Given the description of an element on the screen output the (x, y) to click on. 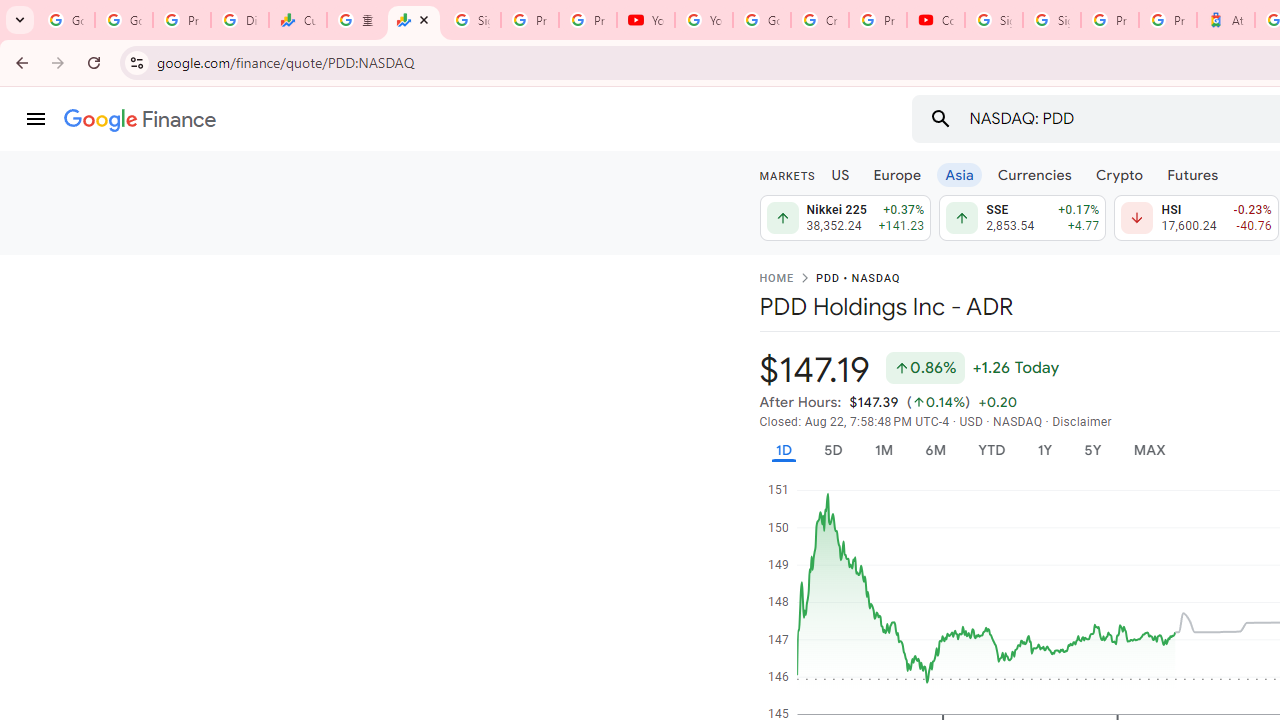
Google Workspace Admin Community (65, 20)
5Y (1092, 449)
Create your Google Account (819, 20)
Content Creator Programs & Opportunities - YouTube Creators (936, 20)
Currencies (1034, 174)
PDD Holdings Inc - ADR (PDD) Price & News - Google Finance (413, 20)
MAX (1149, 449)
1D (783, 449)
1M (882, 449)
Google Account Help (762, 20)
Asia (958, 174)
